Given the description of an element on the screen output the (x, y) to click on. 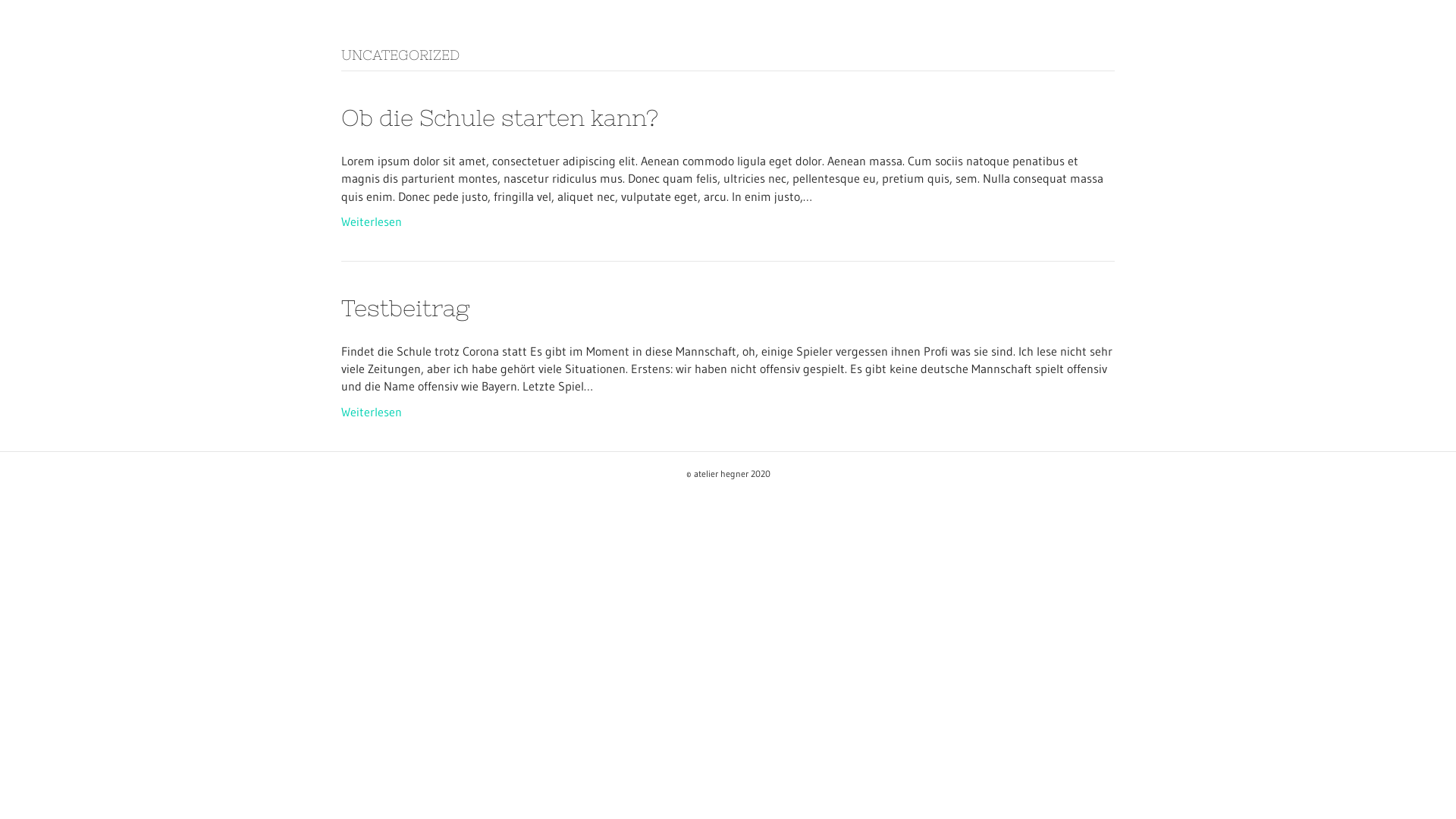
Ob die Schule starten kann? Element type: text (499, 117)
Weiterlesen Element type: text (371, 410)
Weiterlesen Element type: text (371, 221)
Testbeitrag Element type: text (405, 307)
